Given the description of an element on the screen output the (x, y) to click on. 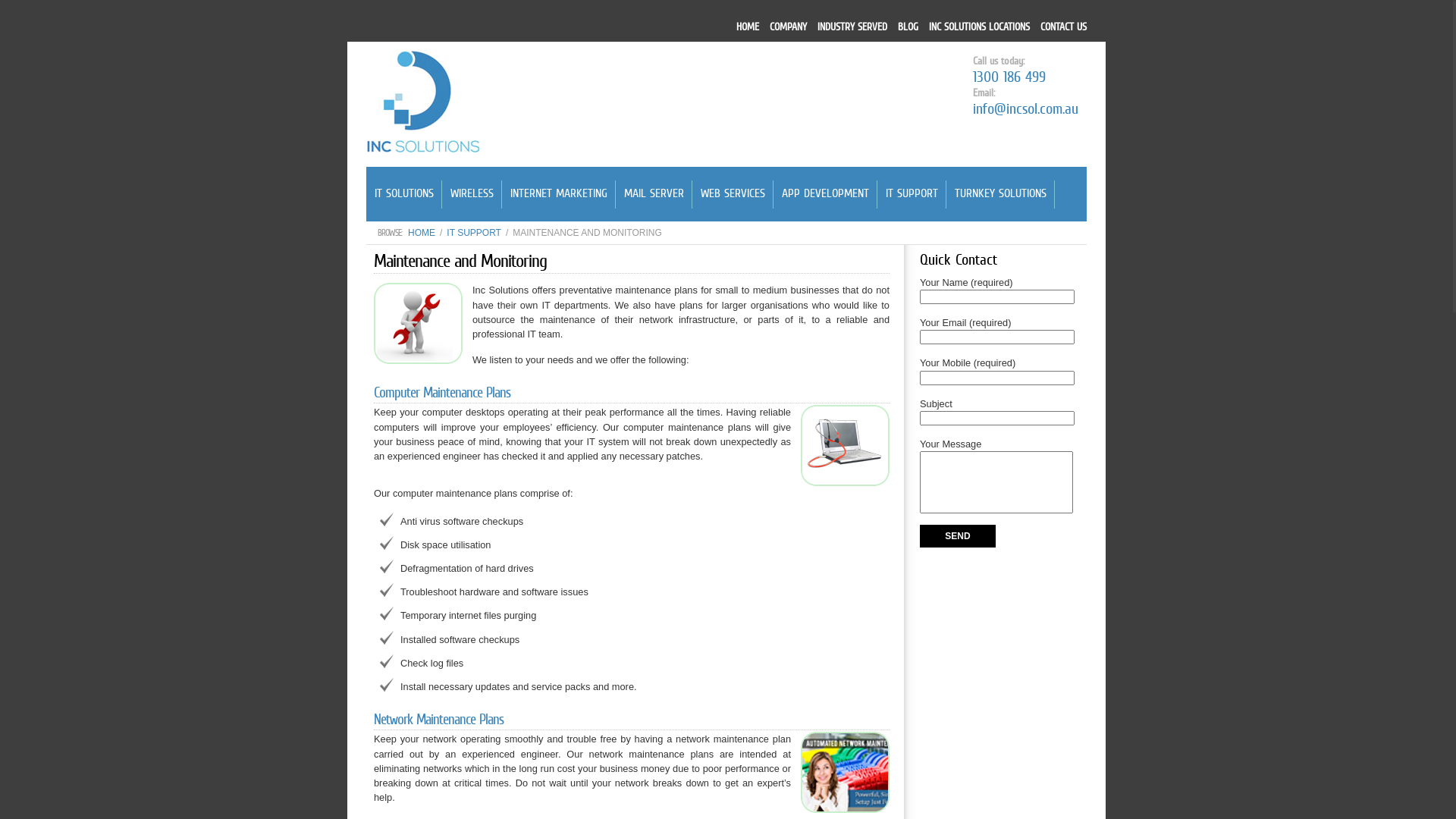
IT SOLUTIONS Element type: text (404, 193)
COMPANY Element type: text (787, 26)
Send Element type: text (957, 535)
CONTACT US Element type: text (1063, 26)
TURNKEY SOLUTIONS Element type: text (1000, 193)
APP DEVELOPMENT Element type: text (825, 193)
BLOG Element type: text (907, 26)
INDUSTRY SERVED Element type: text (852, 26)
INTERNET MARKETING Element type: text (558, 193)
WEB SERVICES Element type: text (732, 193)
HOME Element type: text (421, 232)
INC SOLUTIONS LOCATIONS Element type: text (978, 26)
WIRELESS Element type: text (472, 193)
IT SUPPORT Element type: text (473, 232)
MAIL SERVER Element type: text (653, 193)
IT SUPPORT Element type: text (911, 193)
HOME Element type: text (747, 26)
